Given the description of an element on the screen output the (x, y) to click on. 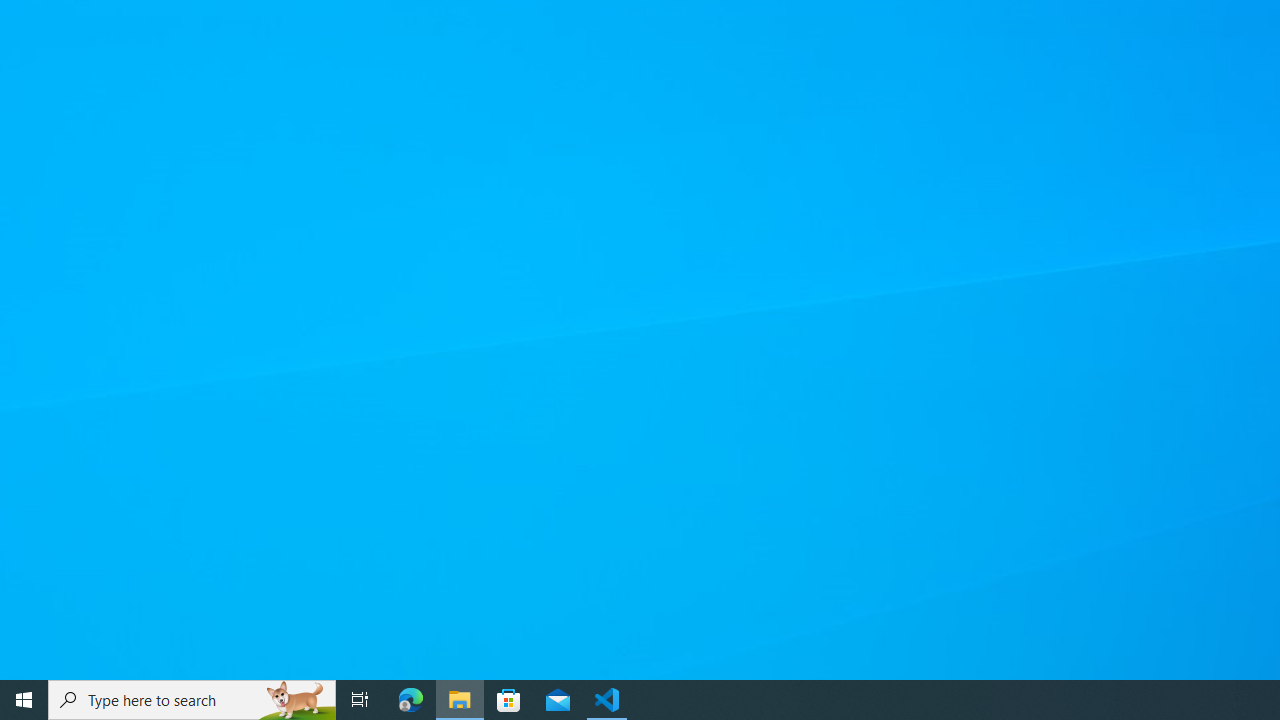
Microsoft Store (509, 699)
File Explorer - 1 running window (460, 699)
Search highlights icon opens search home window (295, 699)
Start (24, 699)
Visual Studio Code - 1 running window (607, 699)
Task View (359, 699)
Microsoft Edge (411, 699)
Type here to search (191, 699)
